Given the description of an element on the screen output the (x, y) to click on. 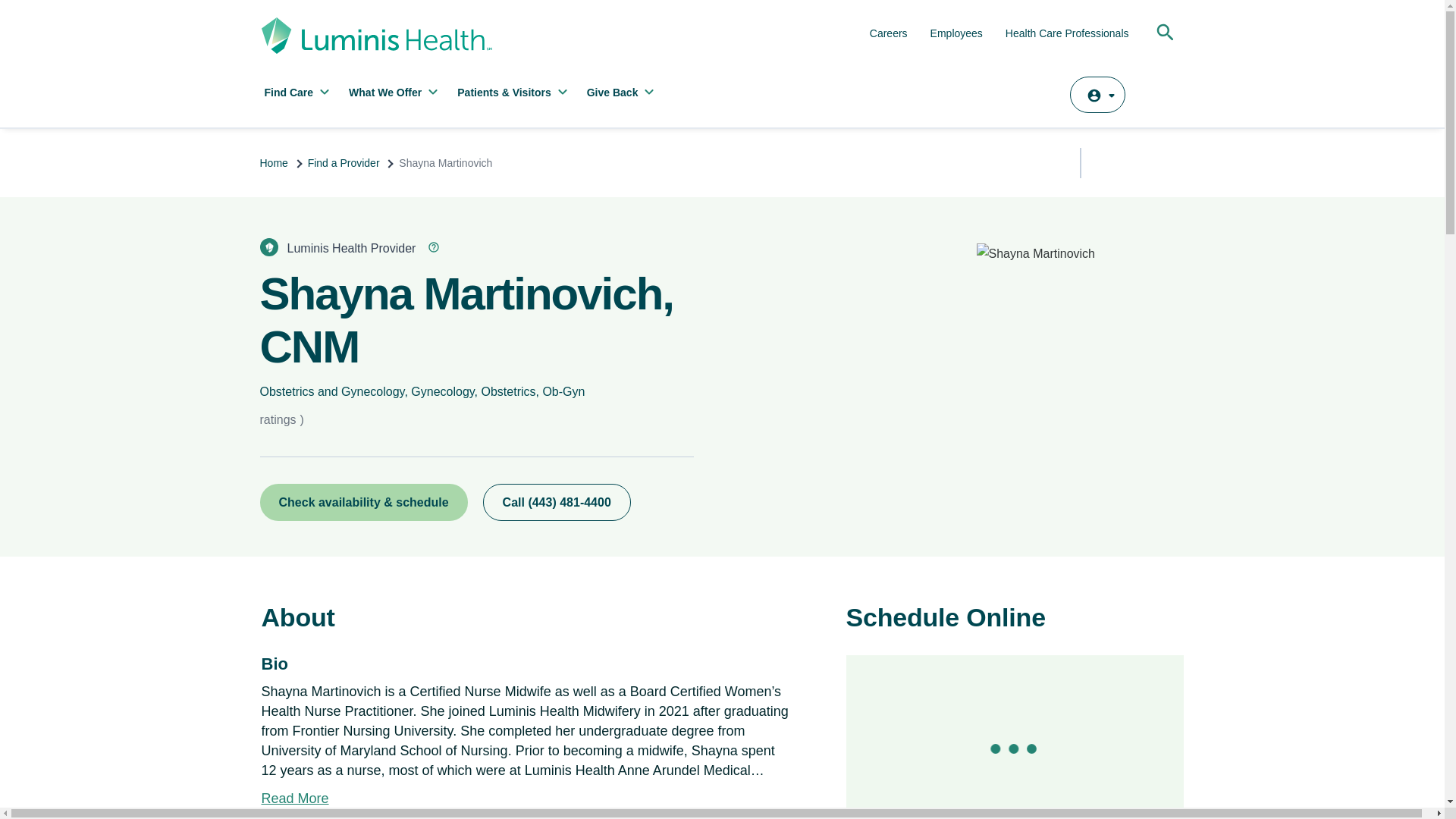
Skip to main content (595, 7)
Careers (888, 33)
Copies the URL to the clipboard (1104, 160)
Opens the print menu (1169, 161)
Employees (956, 33)
Health Care Professionals (1067, 33)
Find Care (298, 95)
